Given the description of an element on the screen output the (x, y) to click on. 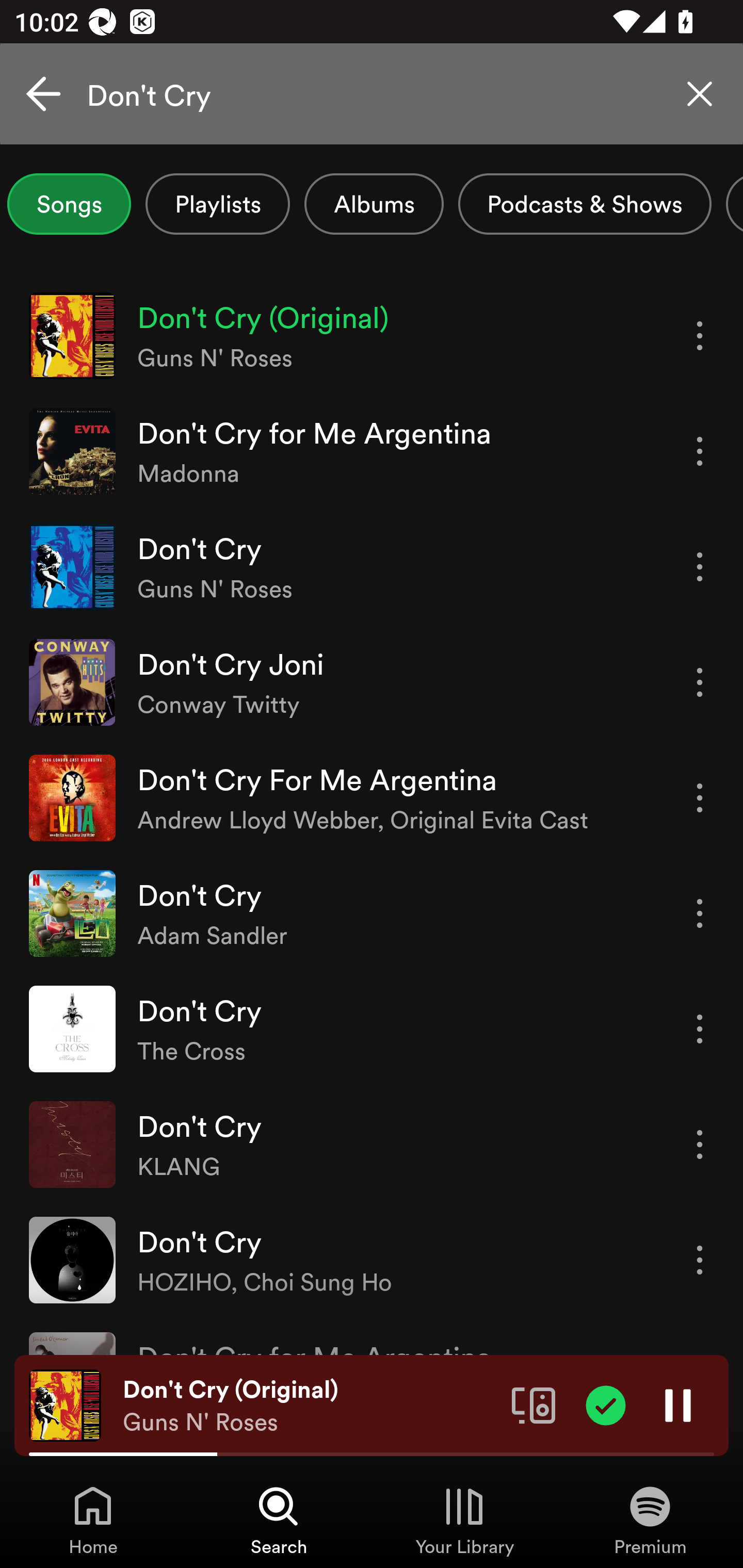
Don't Cry (371, 93)
Cancel (43, 93)
Clear search query (699, 93)
Songs (68, 203)
Playlists (217, 203)
Albums (373, 203)
Podcasts & Shows (584, 203)
More options for song Don't Cry (Original) (699, 336)
More options for song Don't Cry for Me Argentina (699, 450)
More options for song Don't Cry (699, 566)
More options for song Don't Cry Joni (699, 682)
More options for song Don't Cry For Me Argentina (699, 798)
More options for song Don't Cry (699, 913)
More options for song Don't Cry (699, 1029)
Don't Cry KLANG More options for song Don't Cry (371, 1144)
More options for song Don't Cry (699, 1144)
More options for song Don't Cry (699, 1259)
Don't Cry (Original) Guns N' Roses (309, 1405)
The cover art of the currently playing track (64, 1404)
Connect to a device. Opens the devices menu (533, 1404)
Item added (605, 1404)
Pause (677, 1404)
Home, Tab 1 of 4 Home Home (92, 1519)
Search, Tab 2 of 4 Search Search (278, 1519)
Your Library, Tab 3 of 4 Your Library Your Library (464, 1519)
Premium, Tab 4 of 4 Premium Premium (650, 1519)
